Given the description of an element on the screen output the (x, y) to click on. 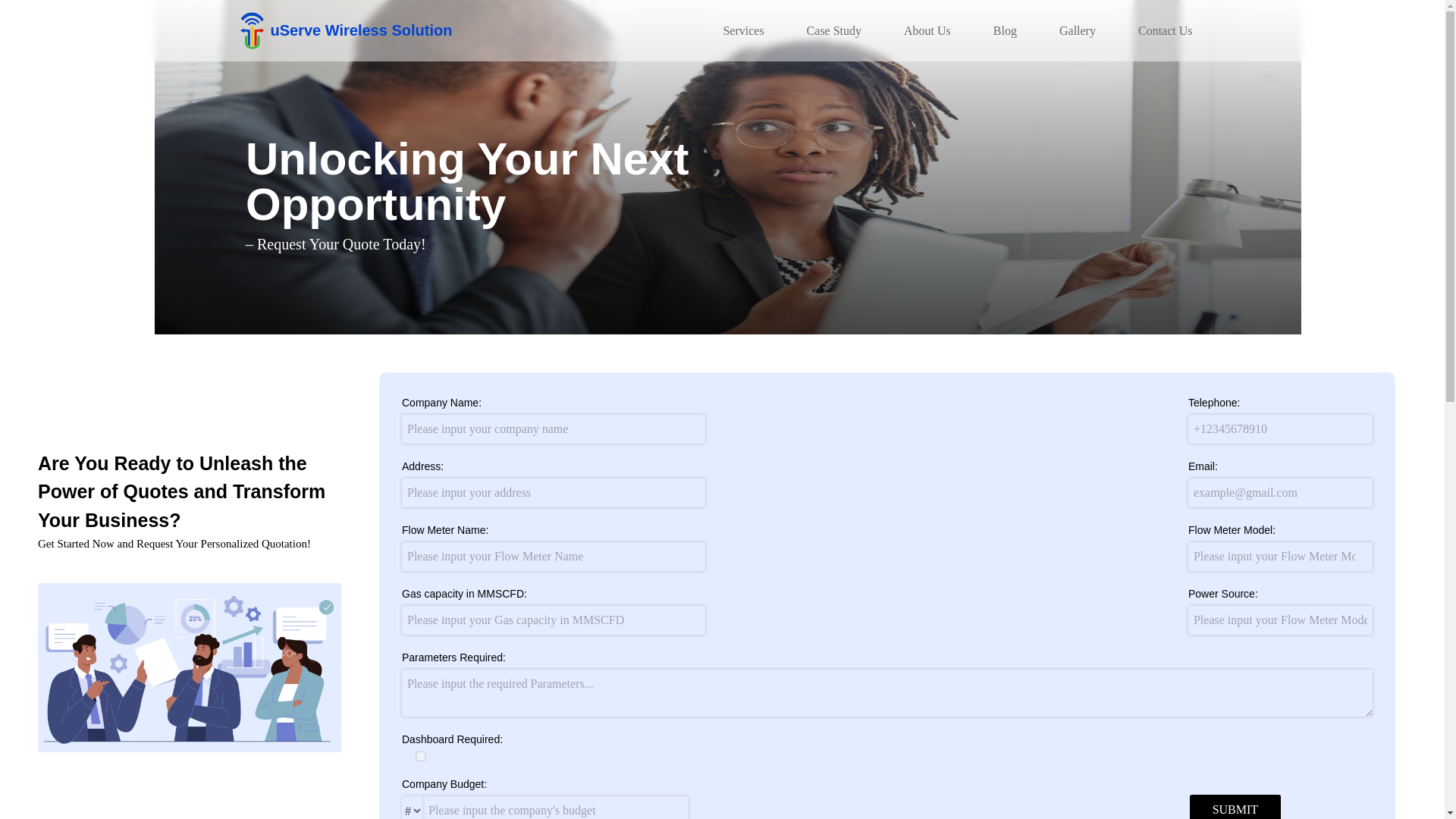
Contact Us (1171, 30)
Gallery (1083, 30)
About Us (933, 30)
Services (749, 30)
on (420, 756)
Blog (1010, 30)
Case Study (839, 30)
uServe Wireless Solution (345, 30)
SUBMIT (1235, 806)
SUBMIT (1235, 806)
